Given the description of an element on the screen output the (x, y) to click on. 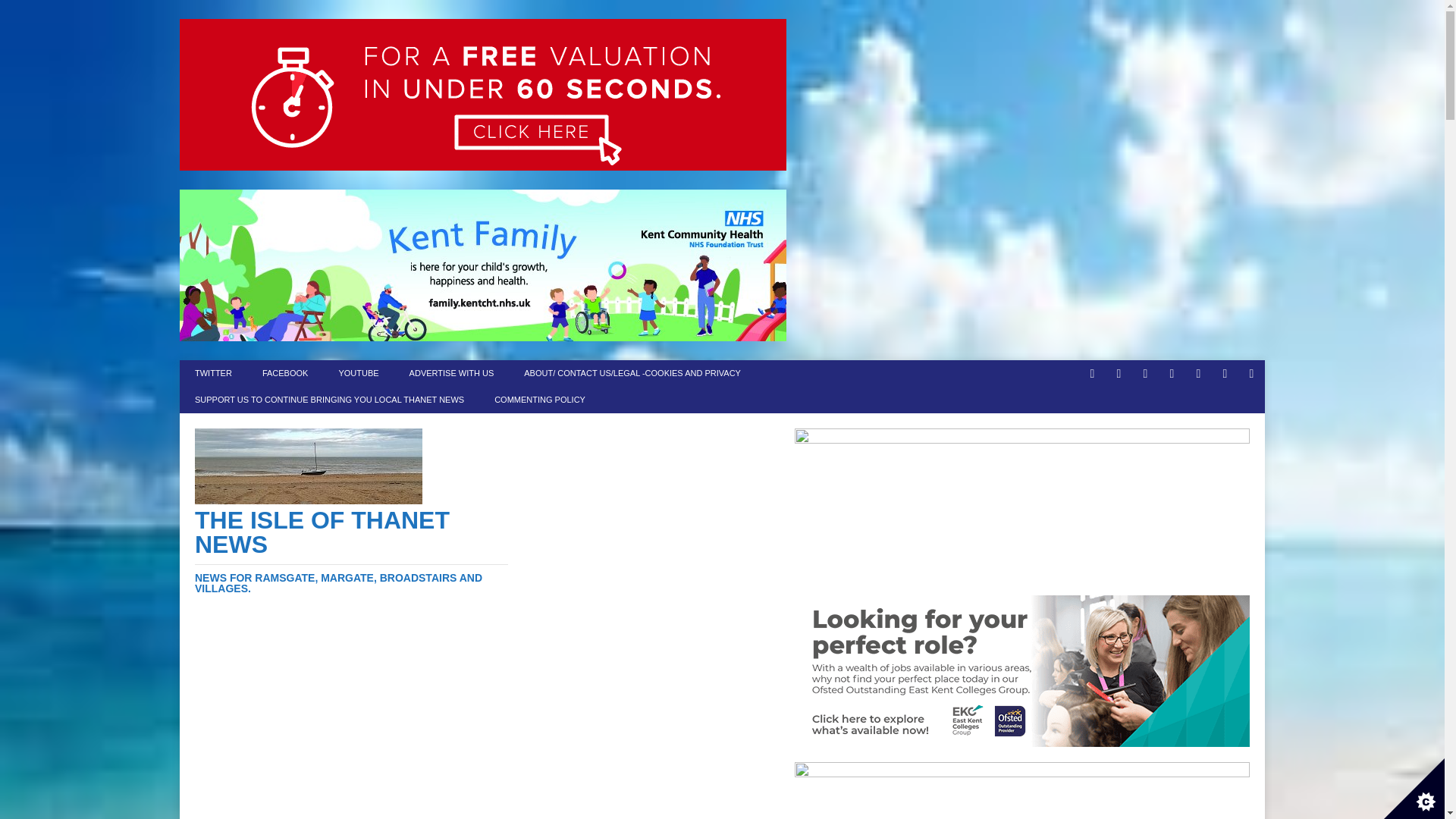
TWITTER (213, 373)
FACEBOOK (285, 373)
SUPPORT US TO CONTINUE BRINGING YOU LOCAL THANET NEWS (329, 399)
ADVERTISE WITH US (451, 373)
COMMENTING POLICY (539, 399)
The Isle Of Thanet News (351, 550)
YOUTUBE (358, 373)
